Given the description of an element on the screen output the (x, y) to click on. 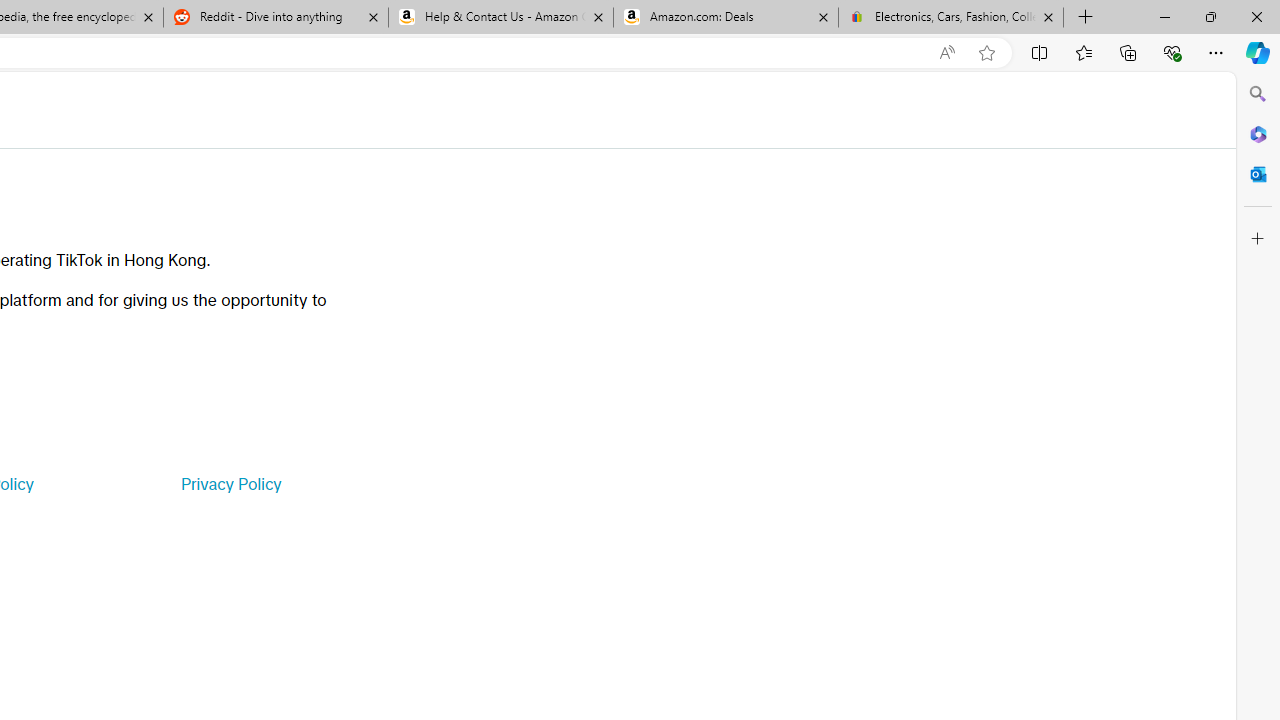
Electronics, Cars, Fashion, Collectibles & More | eBay (950, 17)
Help & Contact Us - Amazon Customer Service (501, 17)
Amazon.com: Deals (726, 17)
Privacy Policy (230, 484)
Reddit - Dive into anything (275, 17)
